Given the description of an element on the screen output the (x, y) to click on. 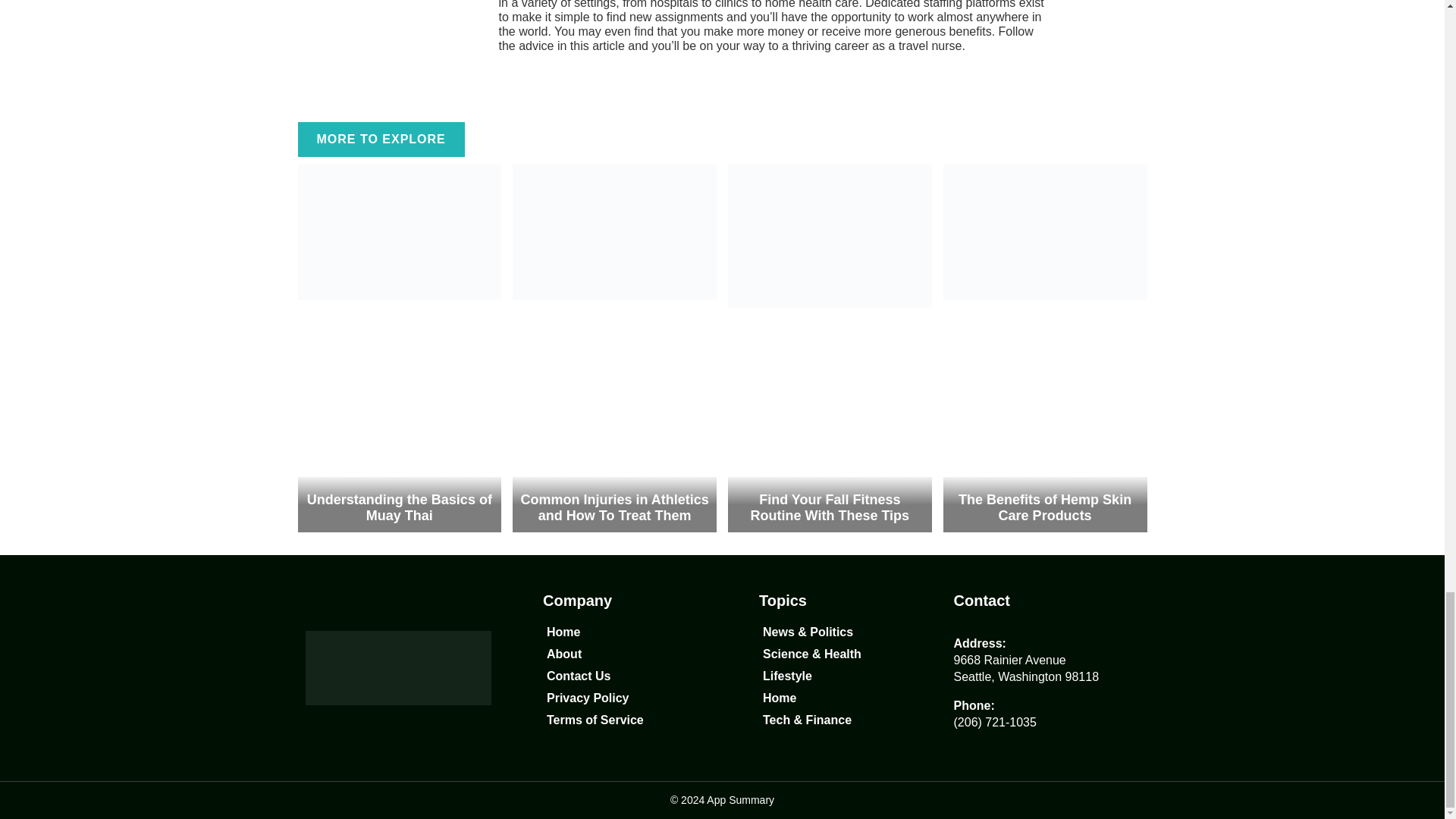
Understanding the Basics of Muay Thai (399, 508)
Lifestyle (840, 676)
Find Your Fall Fitness Routine With These Tips (830, 508)
Home (840, 698)
Contact Us (625, 676)
Terms of Service (625, 720)
Common Injuries in Athletics and How To Treat Them (613, 508)
About (625, 654)
The Benefits of Hemp Skin Care Products (1044, 508)
Home (625, 632)
